Given the description of an element on the screen output the (x, y) to click on. 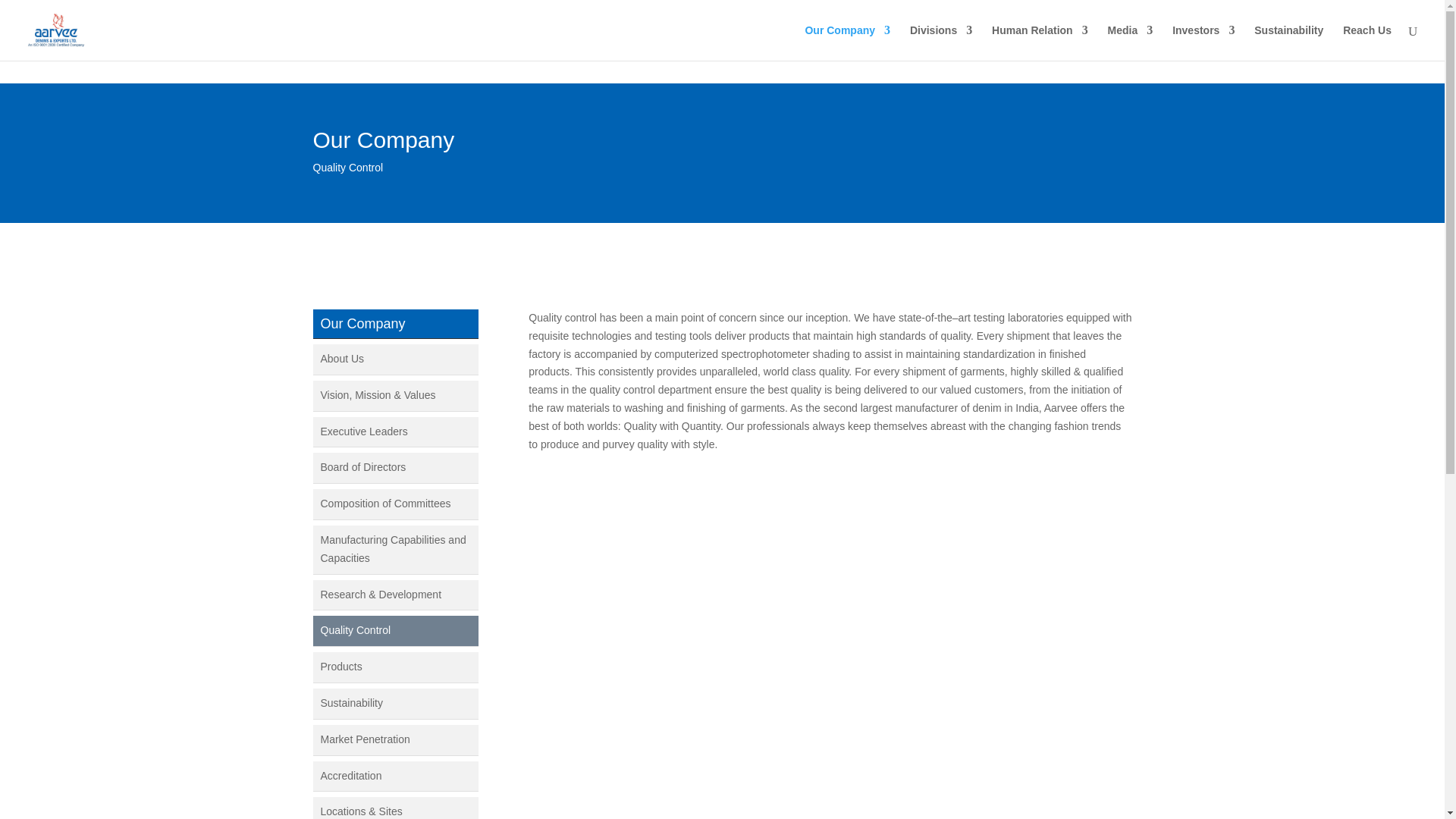
Divisions (941, 42)
Our Company (847, 42)
Investors (1203, 42)
Human Relation (1039, 42)
Media (1130, 42)
